Given the description of an element on the screen output the (x, y) to click on. 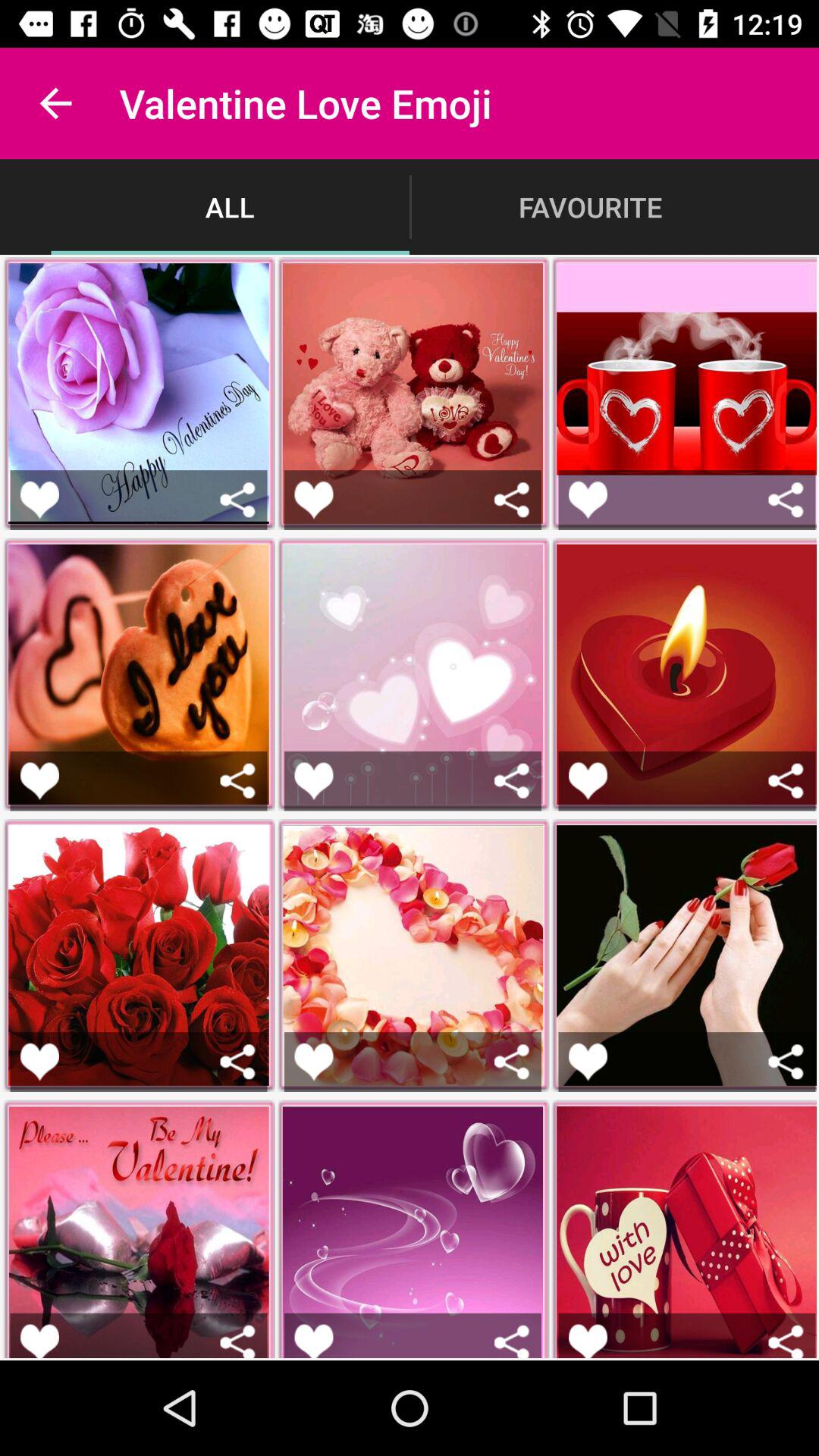
share valentine rose (237, 1340)
